Given the description of an element on the screen output the (x, y) to click on. 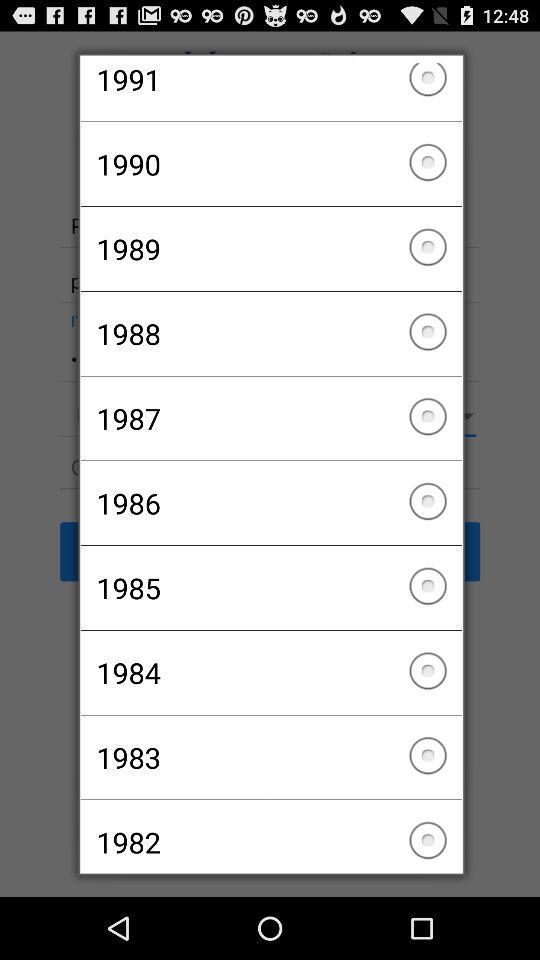
choose the icon above 1982 item (270, 757)
